Given the description of an element on the screen output the (x, y) to click on. 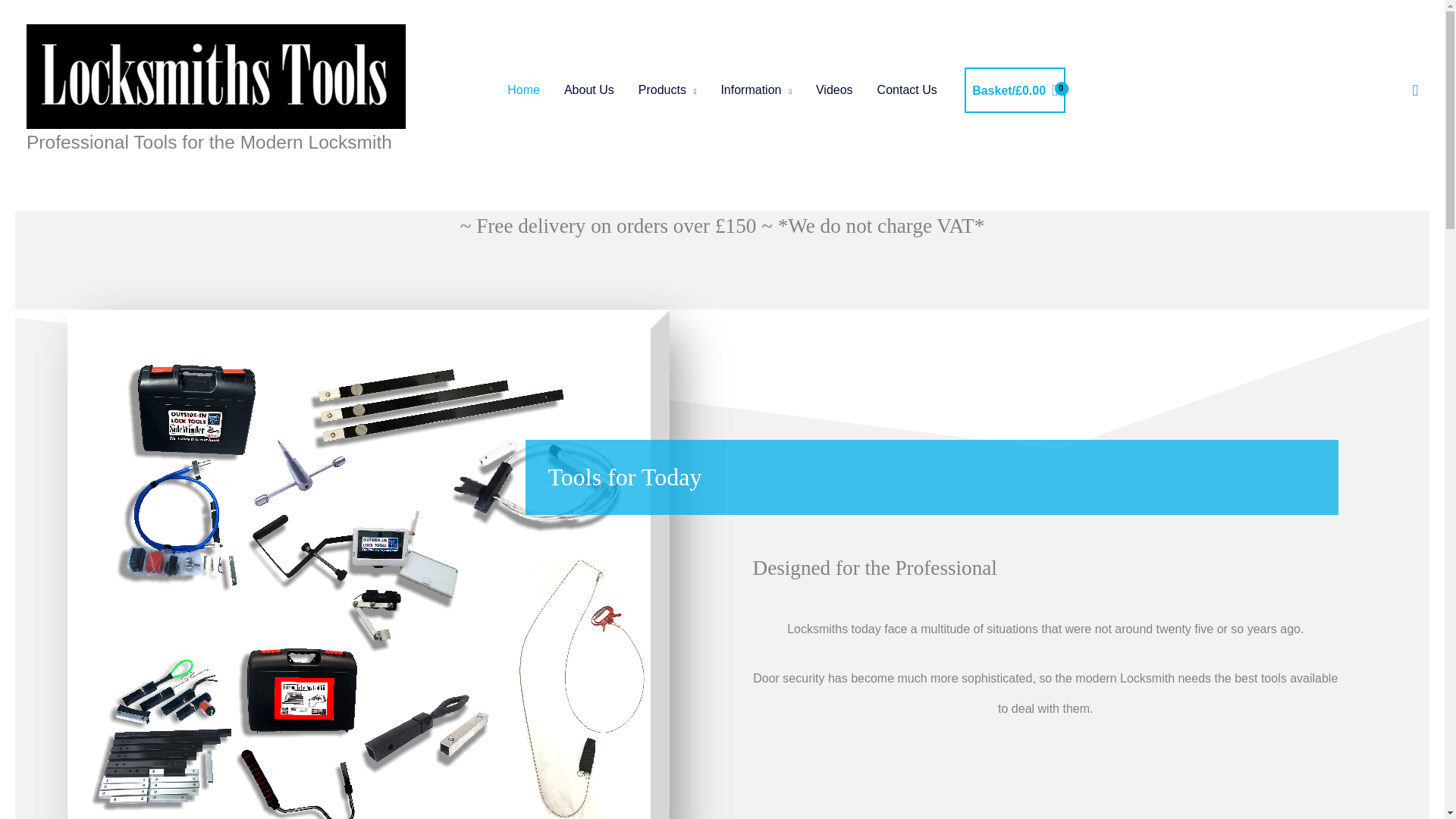
Home (523, 90)
About Us (588, 90)
Contact Us (906, 90)
Products (667, 90)
Videos (833, 90)
Information (755, 90)
